Given the description of an element on the screen output the (x, y) to click on. 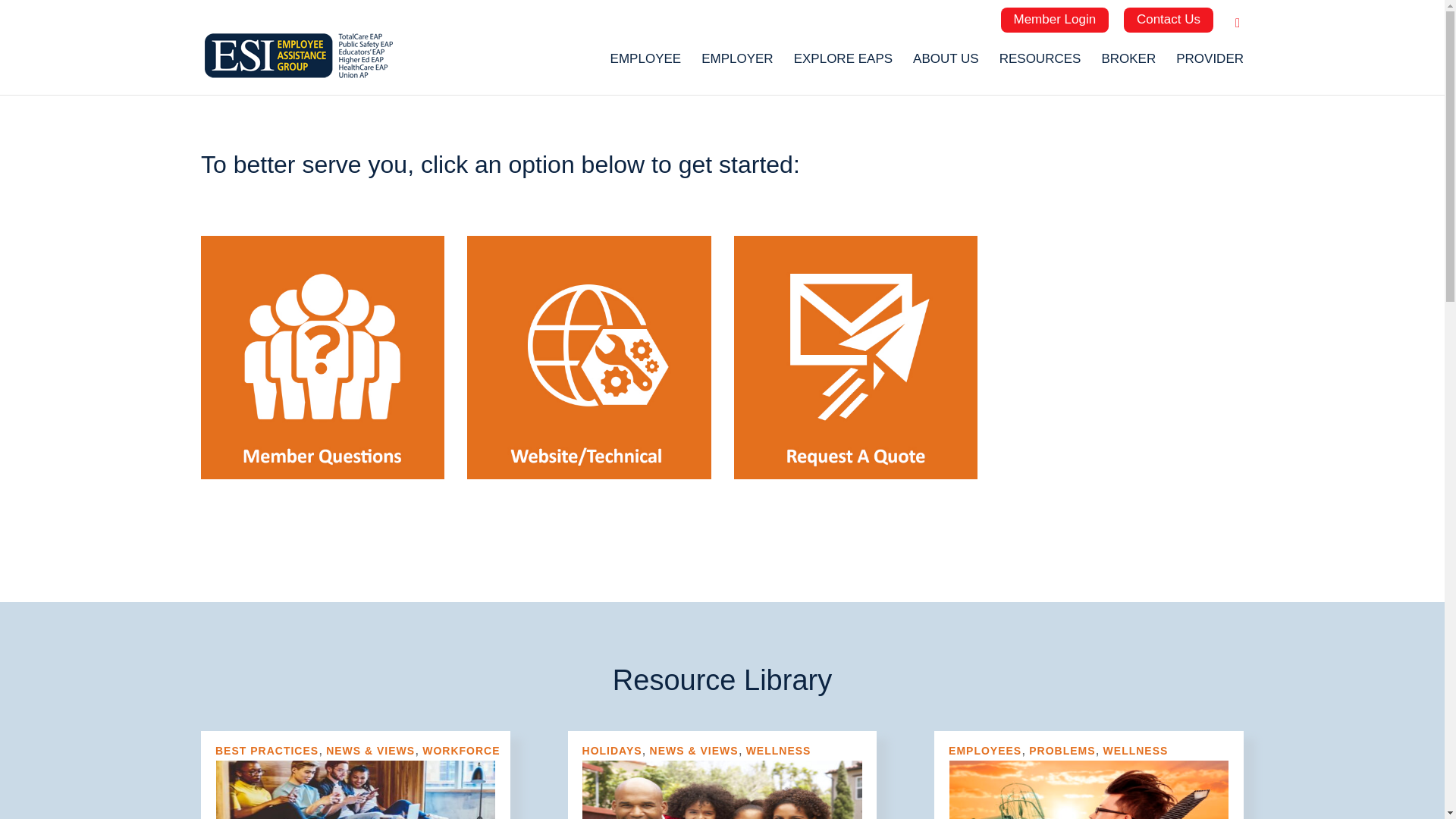
EMPLOYEE (645, 65)
PROVIDER (1209, 65)
ABOUT US (945, 65)
RESOURCES (1039, 65)
BROKER (1128, 65)
Member Login (1055, 19)
EMPLOYER (737, 65)
Contact Us (1168, 19)
EXPLORE EAPS (842, 65)
